Given the description of an element on the screen output the (x, y) to click on. 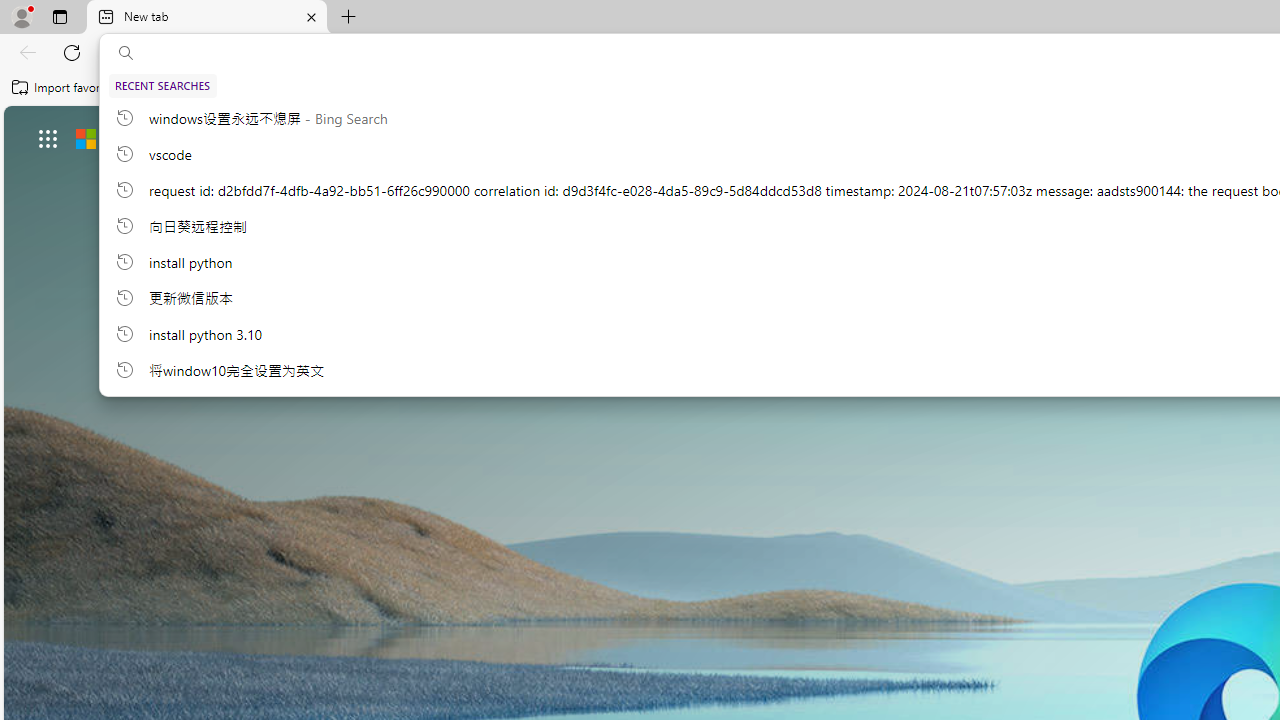
Microsoft start (142, 138)
App launcher (47, 138)
More Options (1199, 320)
